Given the description of an element on the screen output the (x, y) to click on. 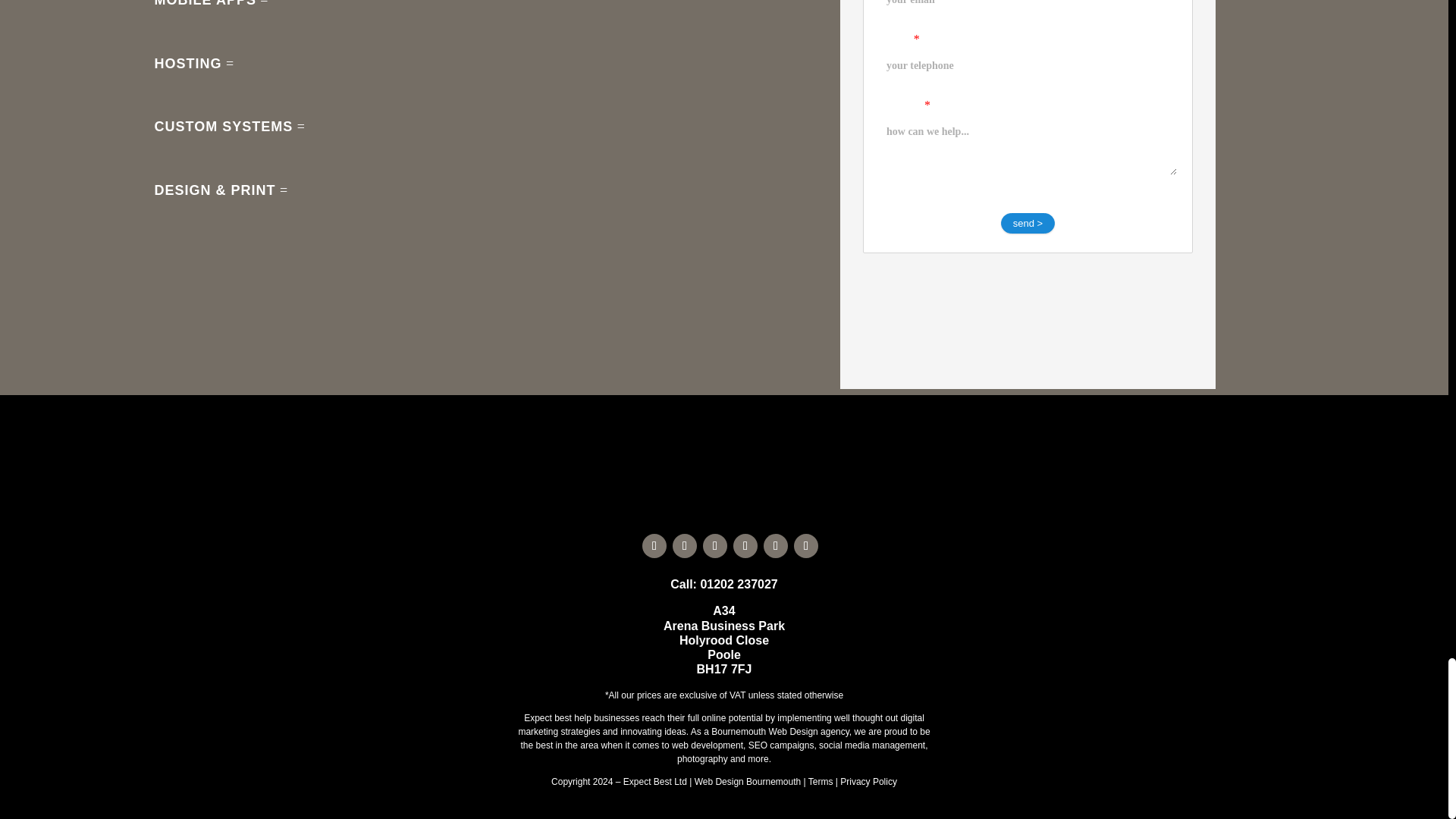
Follow on Facebook (654, 545)
Follow on Youtube (714, 545)
Follow on TikTok (684, 545)
banner eb logo (723, 447)
Follow on LinkedIn (745, 545)
Footer Logo (724, 502)
